Given the description of an element on the screen output the (x, y) to click on. 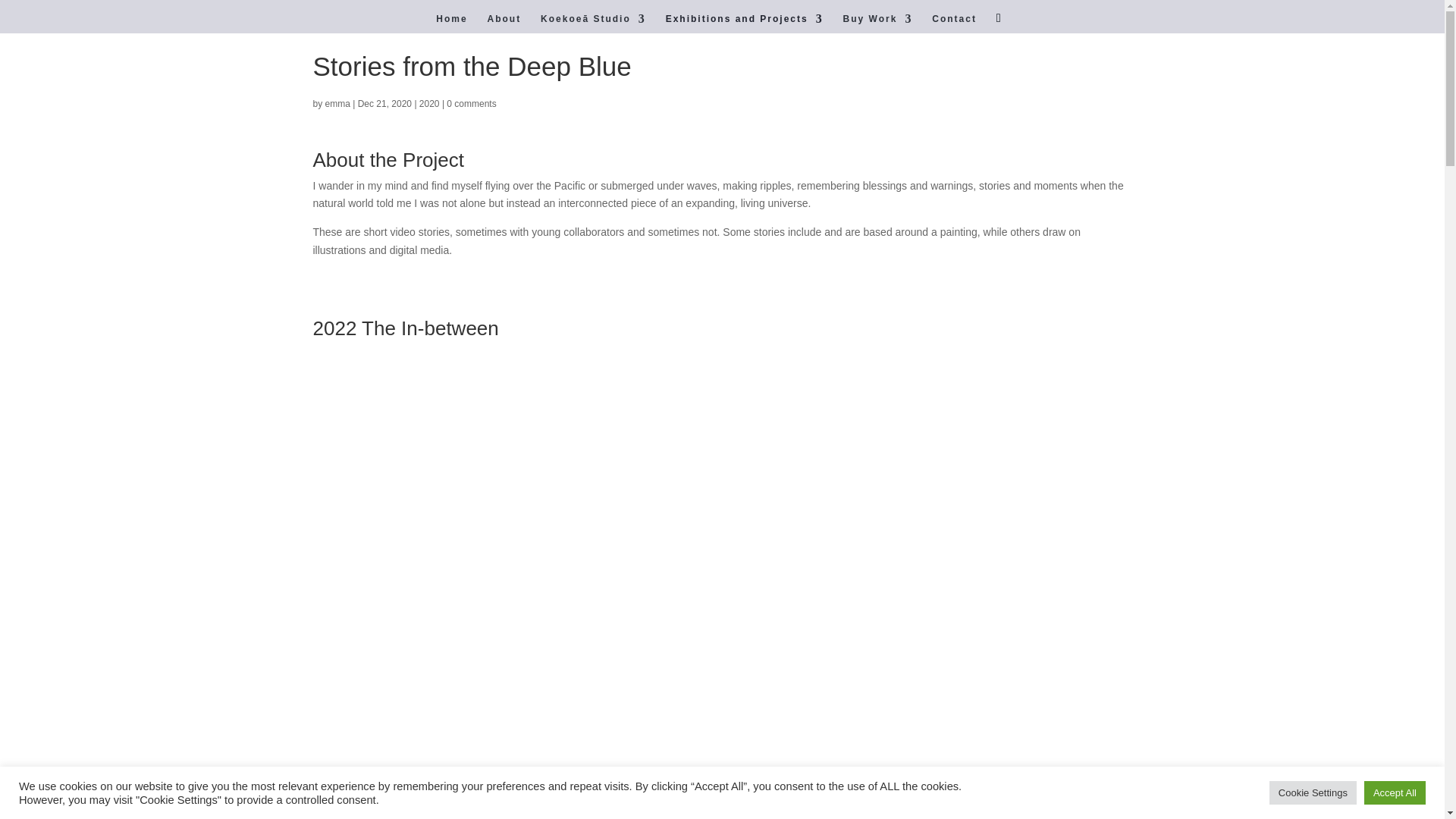
Home (451, 23)
Buy Work (877, 23)
Posts by emma (337, 103)
About (504, 23)
Contact (953, 23)
Exhibitions and Projects (744, 23)
